Given the description of an element on the screen output the (x, y) to click on. 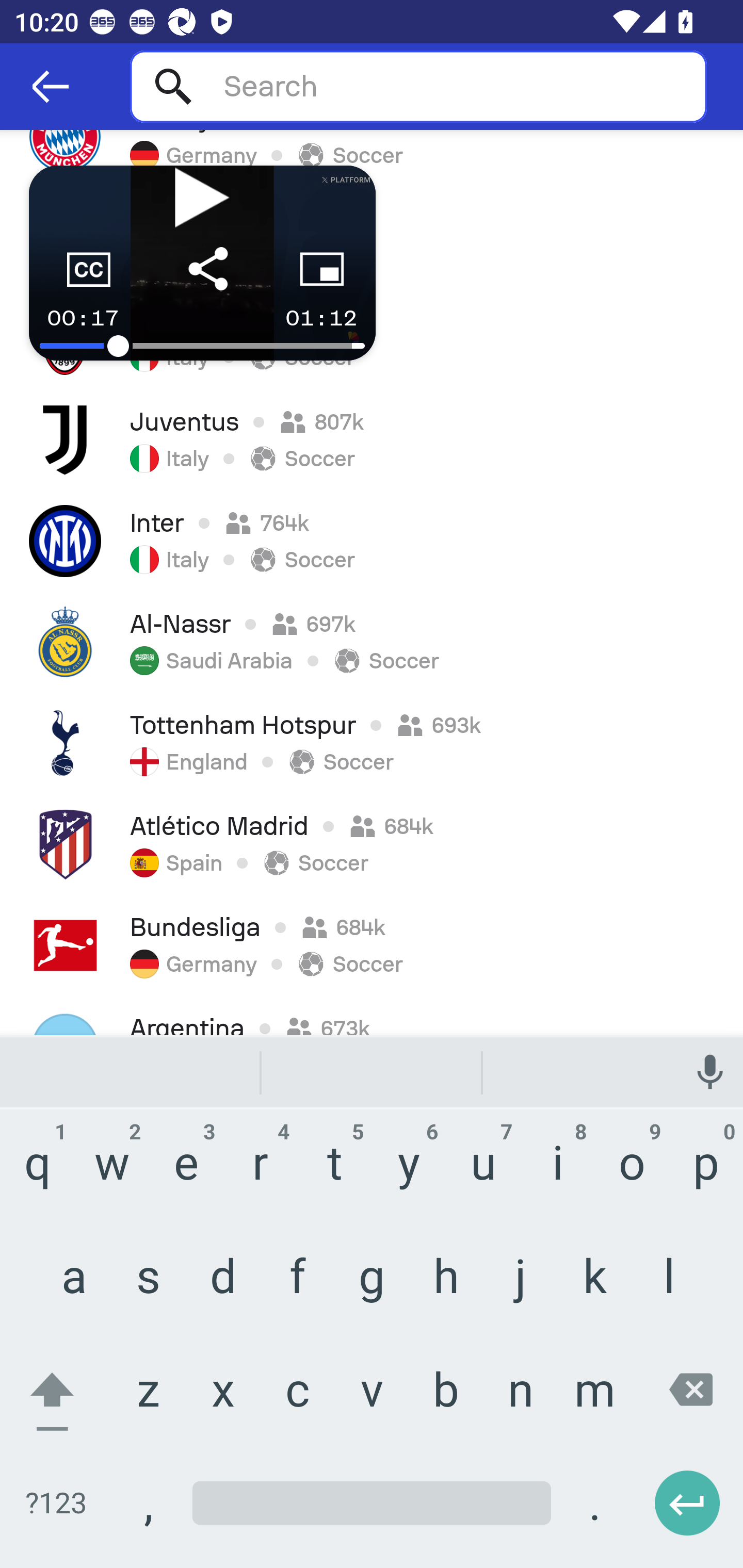
Navigate up (50, 86)
Search (418, 86)
Juventus 807k Italy Soccer (371, 439)
Inter 764k Italy Soccer (371, 540)
Al-Nassr 697k Saudi Arabia Soccer (371, 642)
Tottenham Hotspur 693k England Soccer (371, 743)
Atlético Madrid 684k Spain Soccer (371, 844)
Bundesliga 684k Germany Soccer (371, 945)
